Given the description of an element on the screen output the (x, y) to click on. 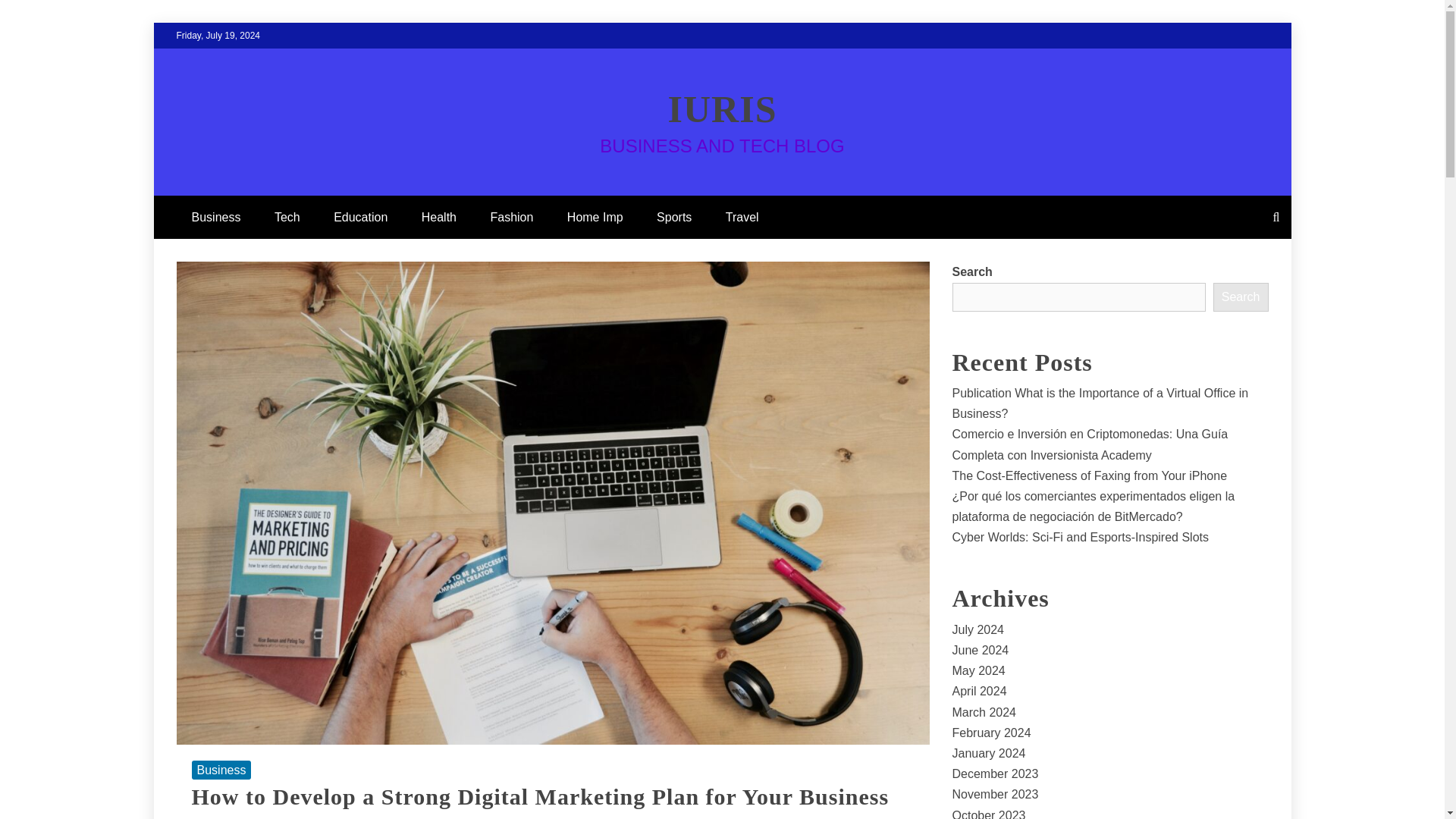
IURIS (722, 108)
Education (360, 217)
Fashion (511, 217)
Business (220, 769)
Travel (742, 217)
The Cost-Effectiveness of Faxing from Your iPhone (1089, 475)
Health (438, 217)
Tech (287, 217)
Sports (674, 217)
Business (216, 217)
Search (1240, 297)
Home Imp (595, 217)
